Given the description of an element on the screen output the (x, y) to click on. 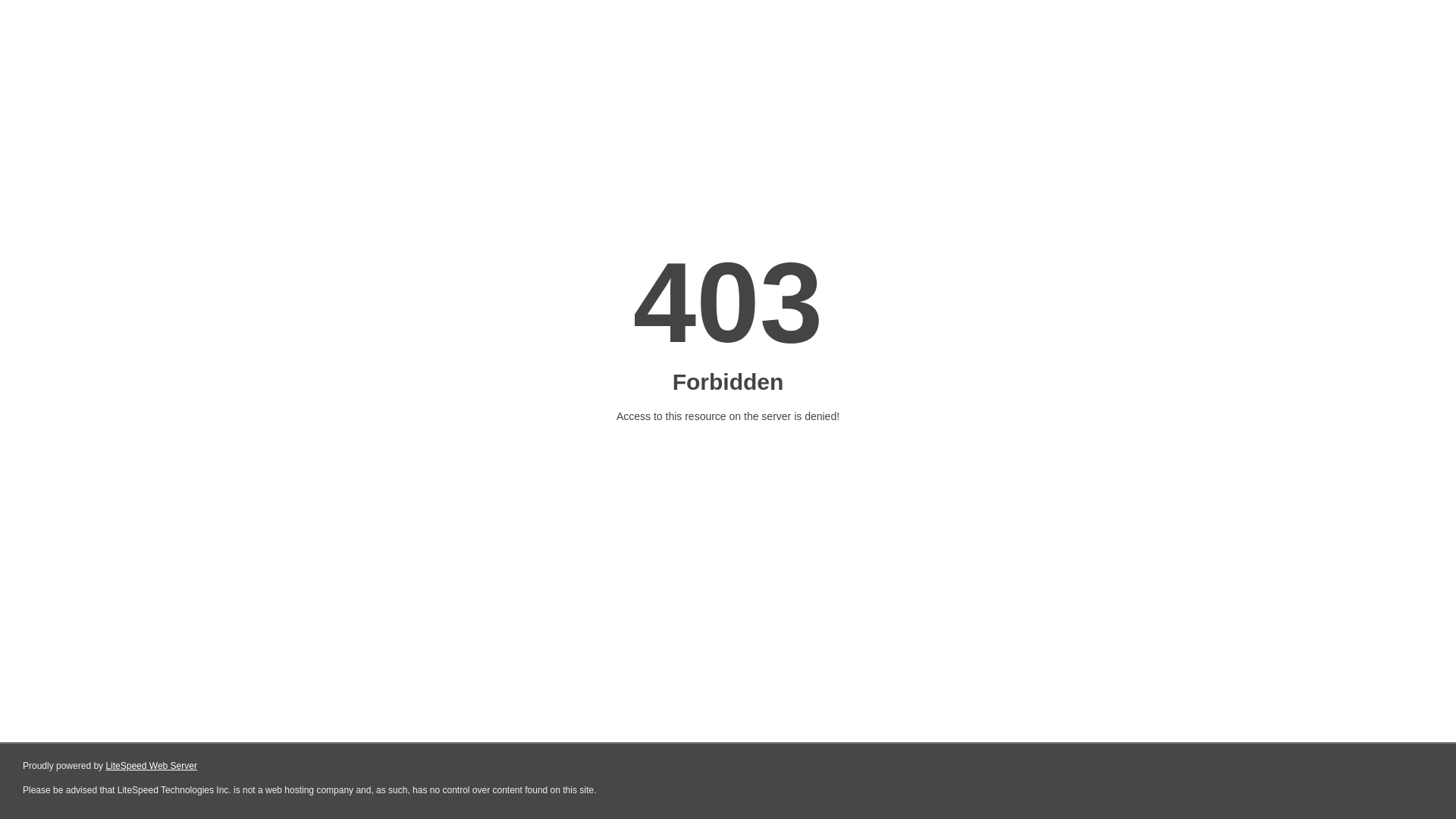
LiteSpeed Web Server Element type: text (151, 765)
